Given the description of an element on the screen output the (x, y) to click on. 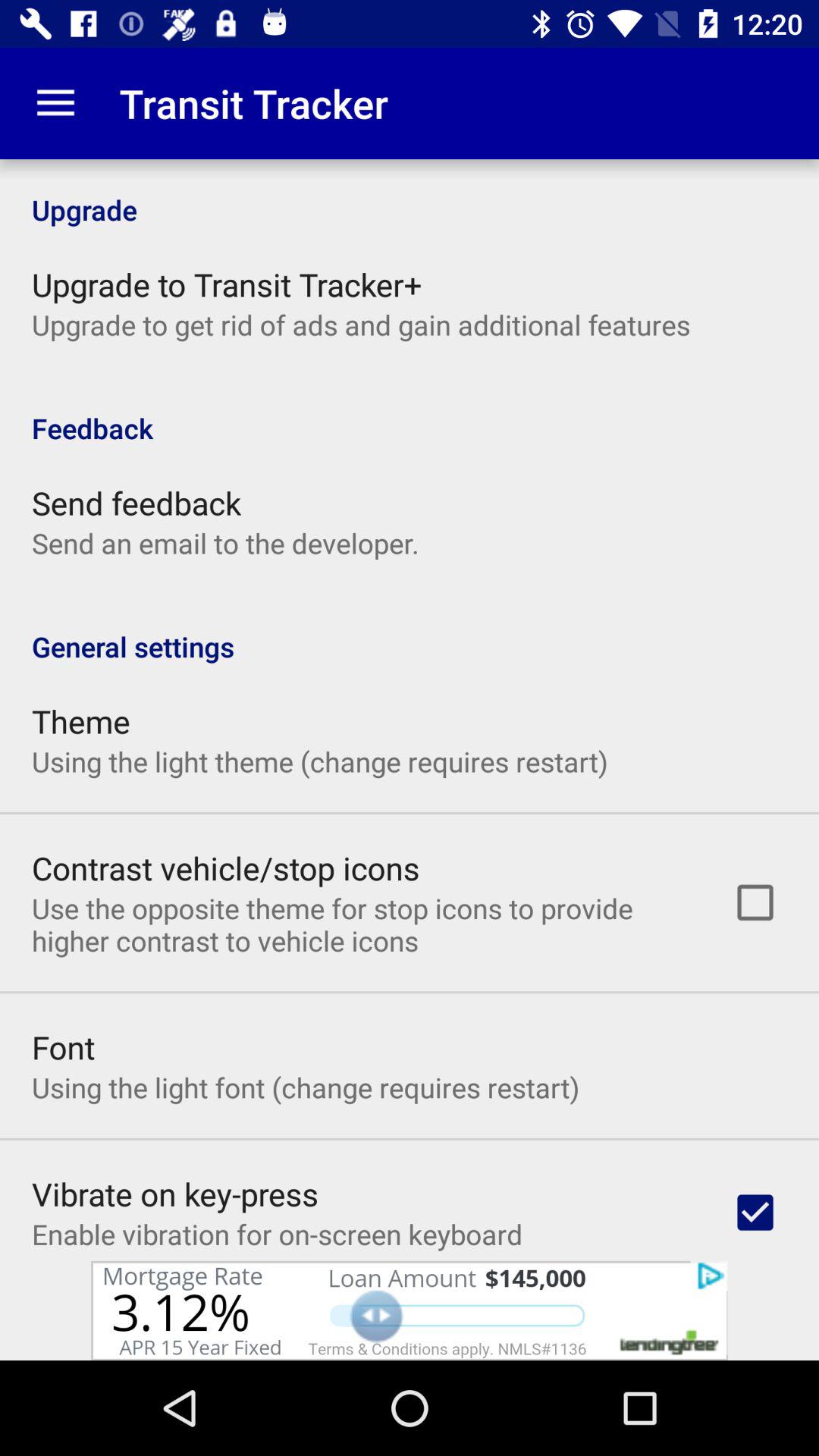
click on the button which is next to the contrast vehiclestop icons (755, 902)
